Given the description of an element on the screen output the (x, y) to click on. 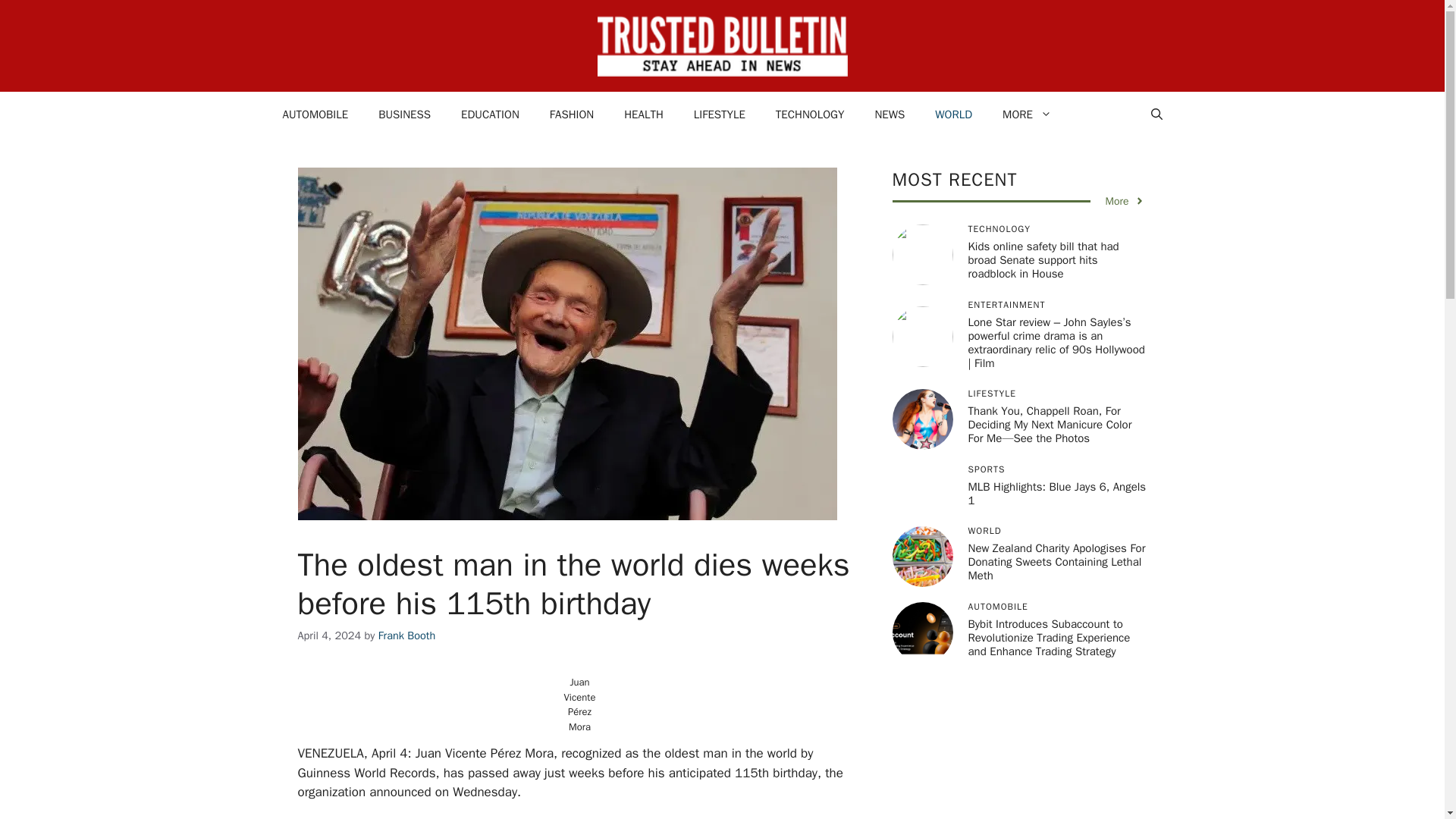
MLB Highlights: Blue Jays 6, Angels 1 (1056, 492)
More (1124, 201)
NEWS (889, 114)
AUTOMOBILE (314, 114)
FASHION (571, 114)
WORLD (953, 114)
BUSINESS (403, 114)
TECHNOLOGY (810, 114)
LIFESTYLE (719, 114)
